Given the description of an element on the screen output the (x, y) to click on. 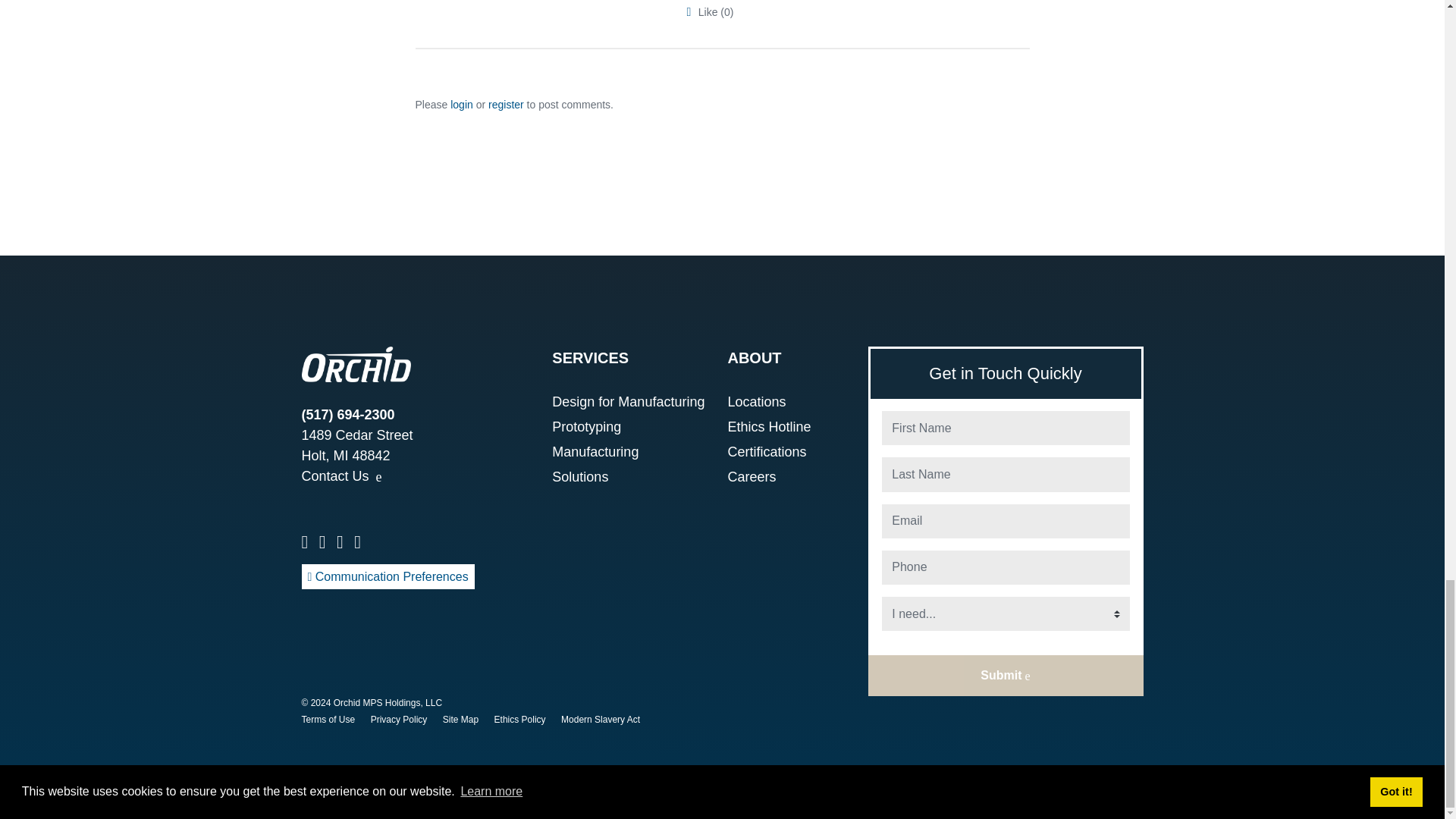
Orchid (355, 364)
